Given the description of an element on the screen output the (x, y) to click on. 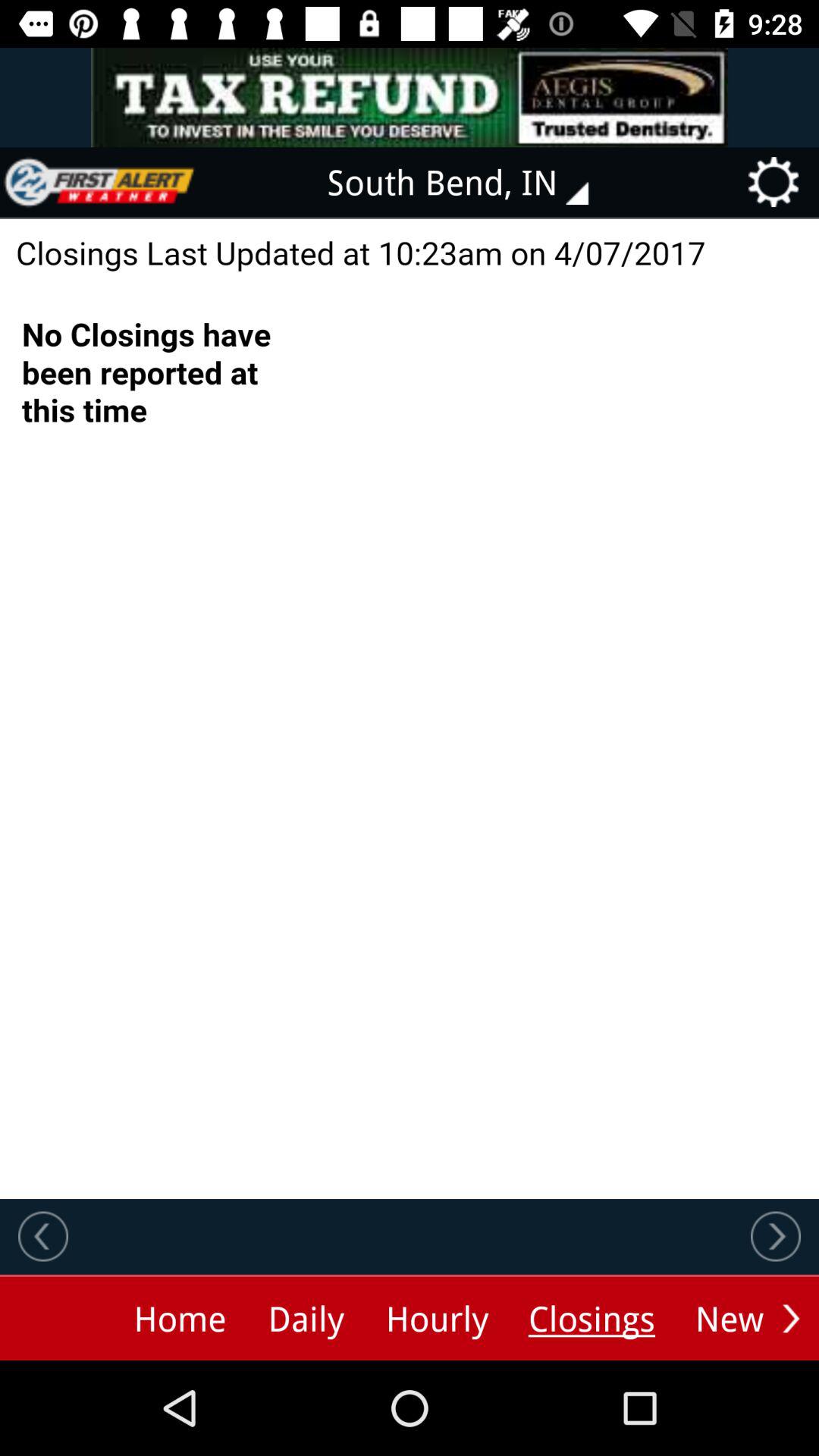
aegis dental group banner advertisement (409, 97)
